Given the description of an element on the screen output the (x, y) to click on. 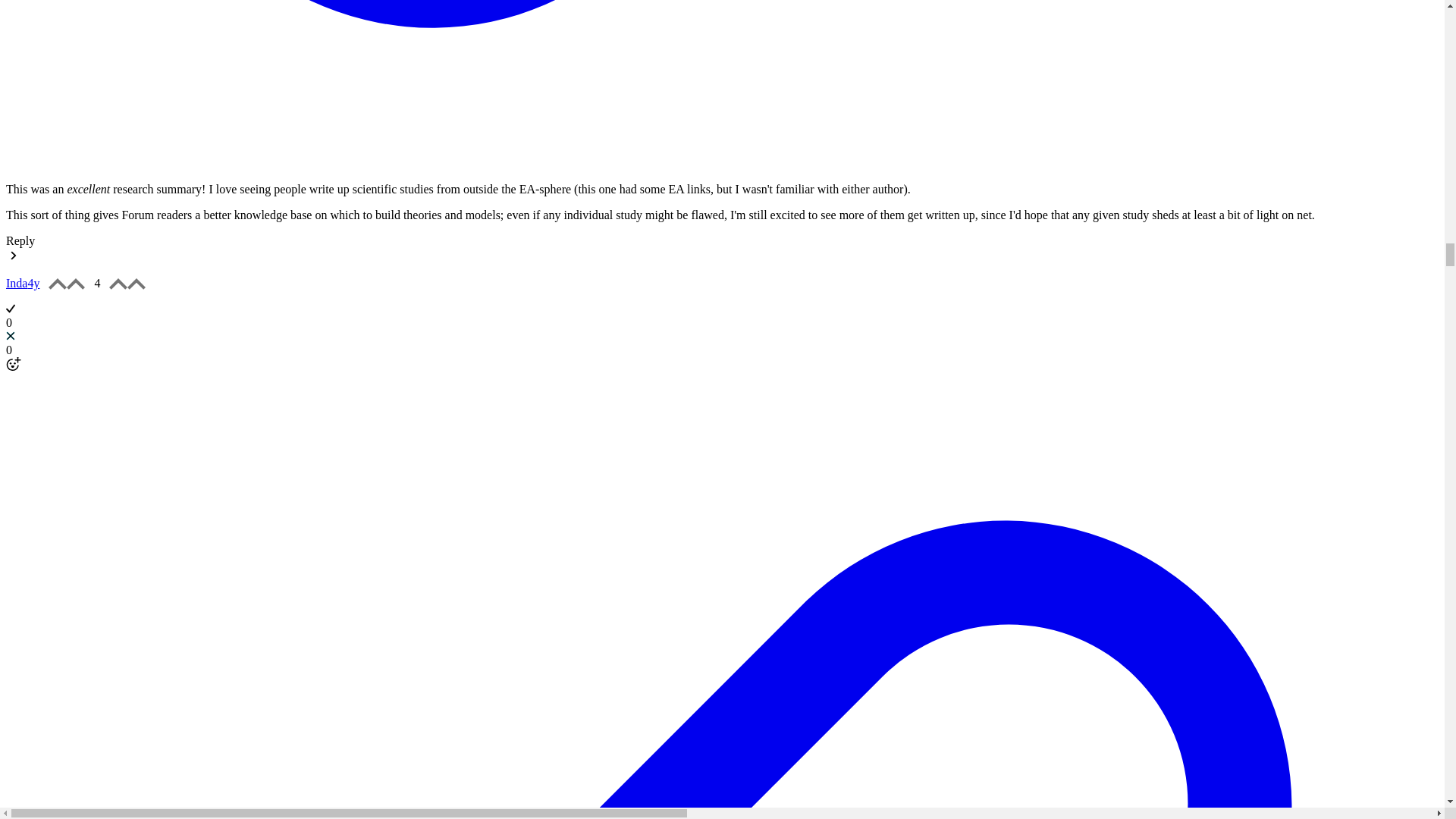
Reply (19, 240)
Inda (721, 294)
4y (33, 282)
